Given the description of an element on the screen output the (x, y) to click on. 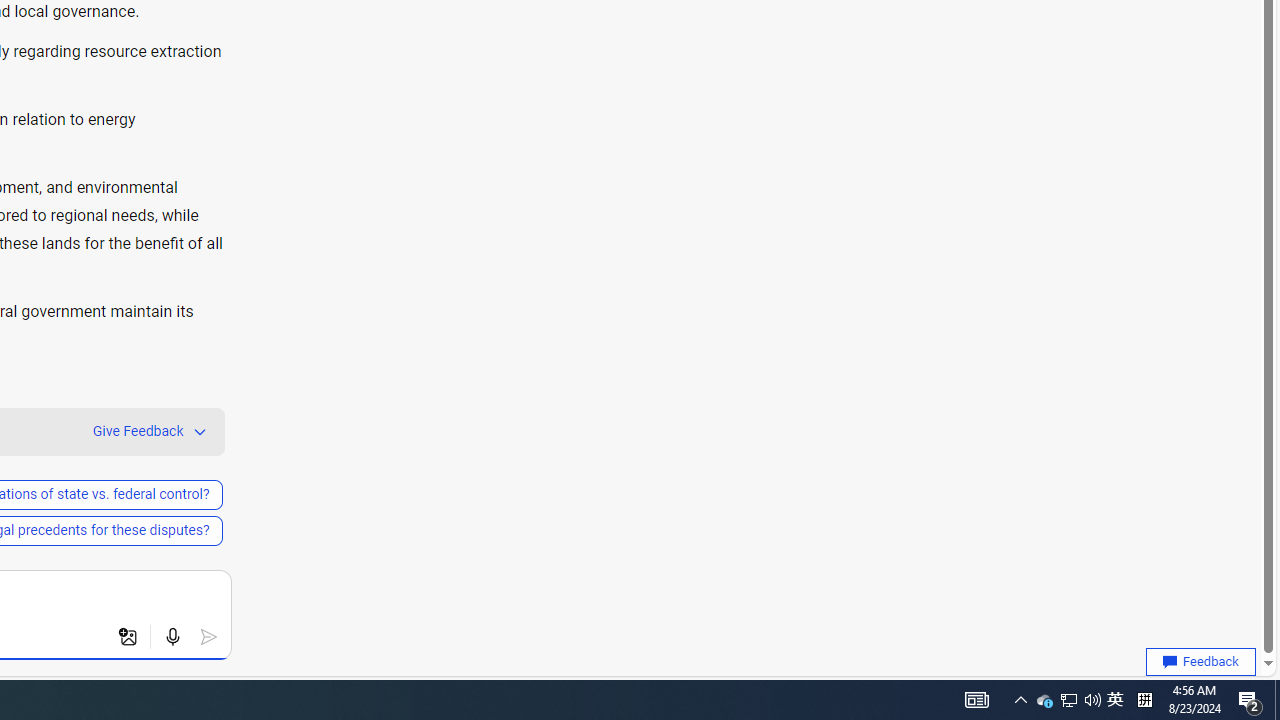
Submit (208, 637)
Use microphone (172, 637)
Add an image to search (127, 637)
